Given the description of an element on the screen output the (x, y) to click on. 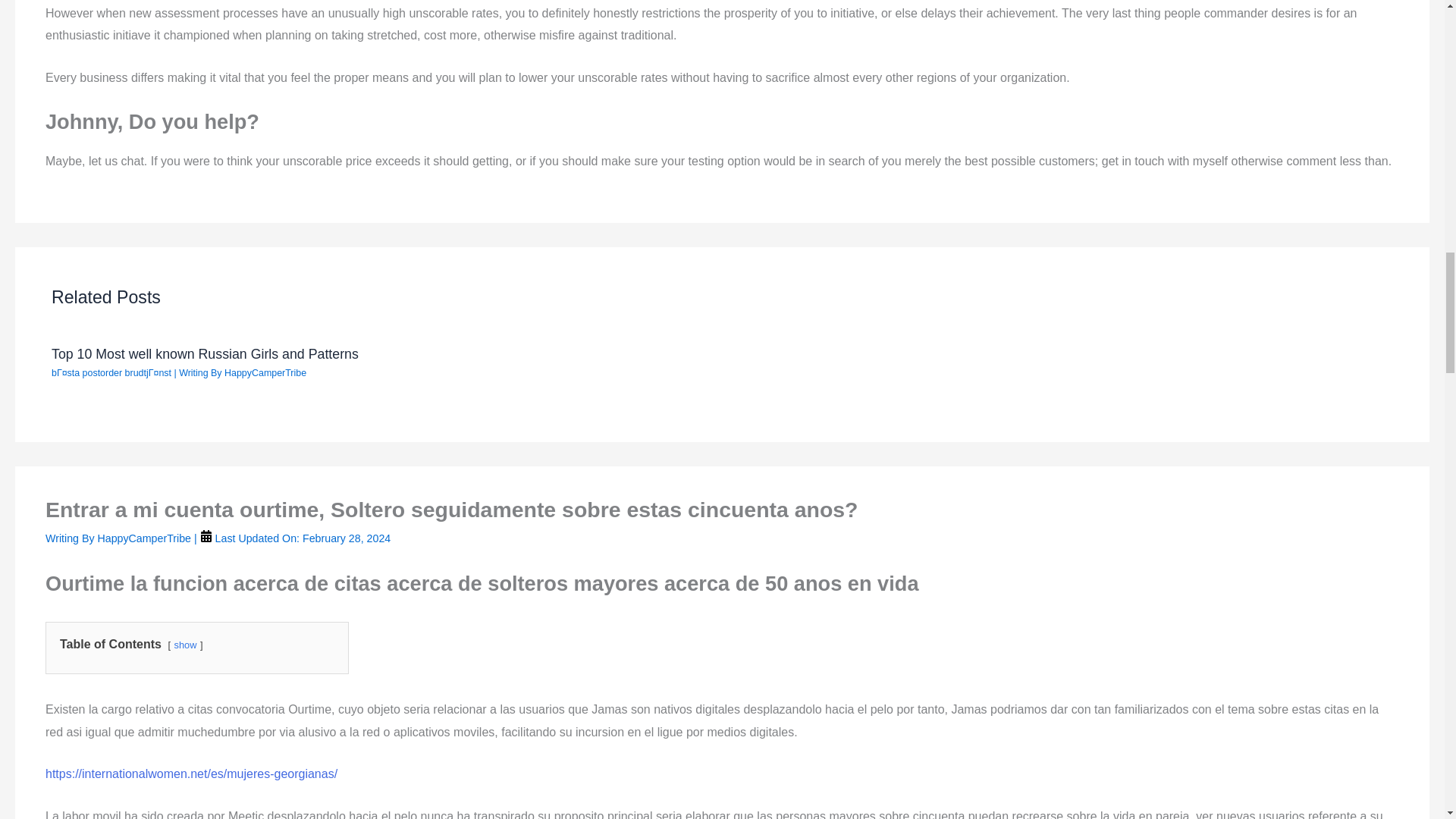
View all posts by HappyCamperTribe (145, 538)
HappyCamperTribe (264, 372)
show (185, 644)
Top 10 Most well known Russian Girls and Patterns (204, 353)
View all posts by HappyCamperTribe (264, 372)
HappyCamperTribe (145, 538)
